Given the description of an element on the screen output the (x, y) to click on. 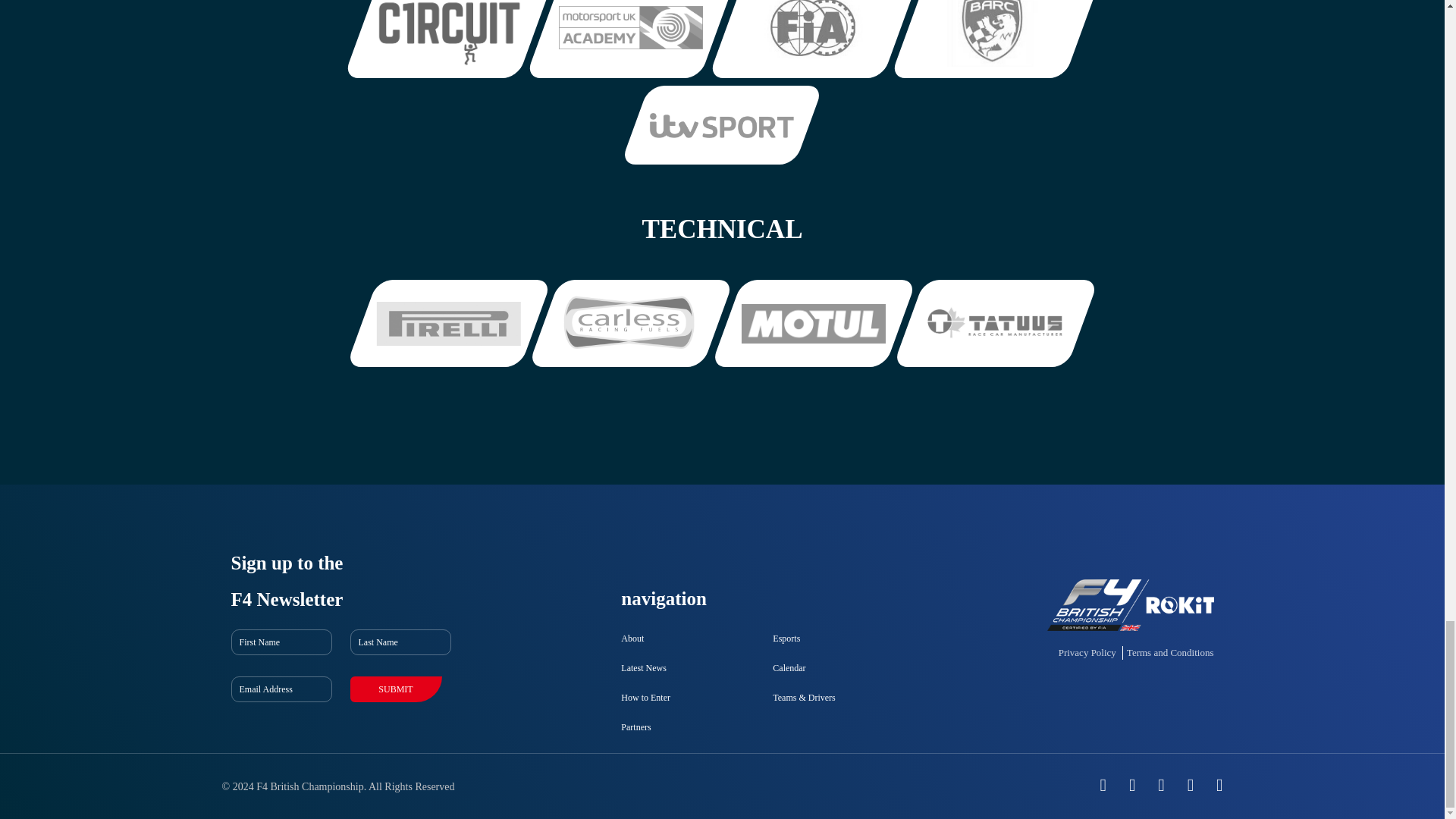
Calendar (789, 667)
About (632, 638)
How to Enter (645, 697)
Submit (396, 688)
Esports (786, 638)
Submit (396, 688)
Partners (635, 726)
Latest News (643, 667)
